Given the description of an element on the screen output the (x, y) to click on. 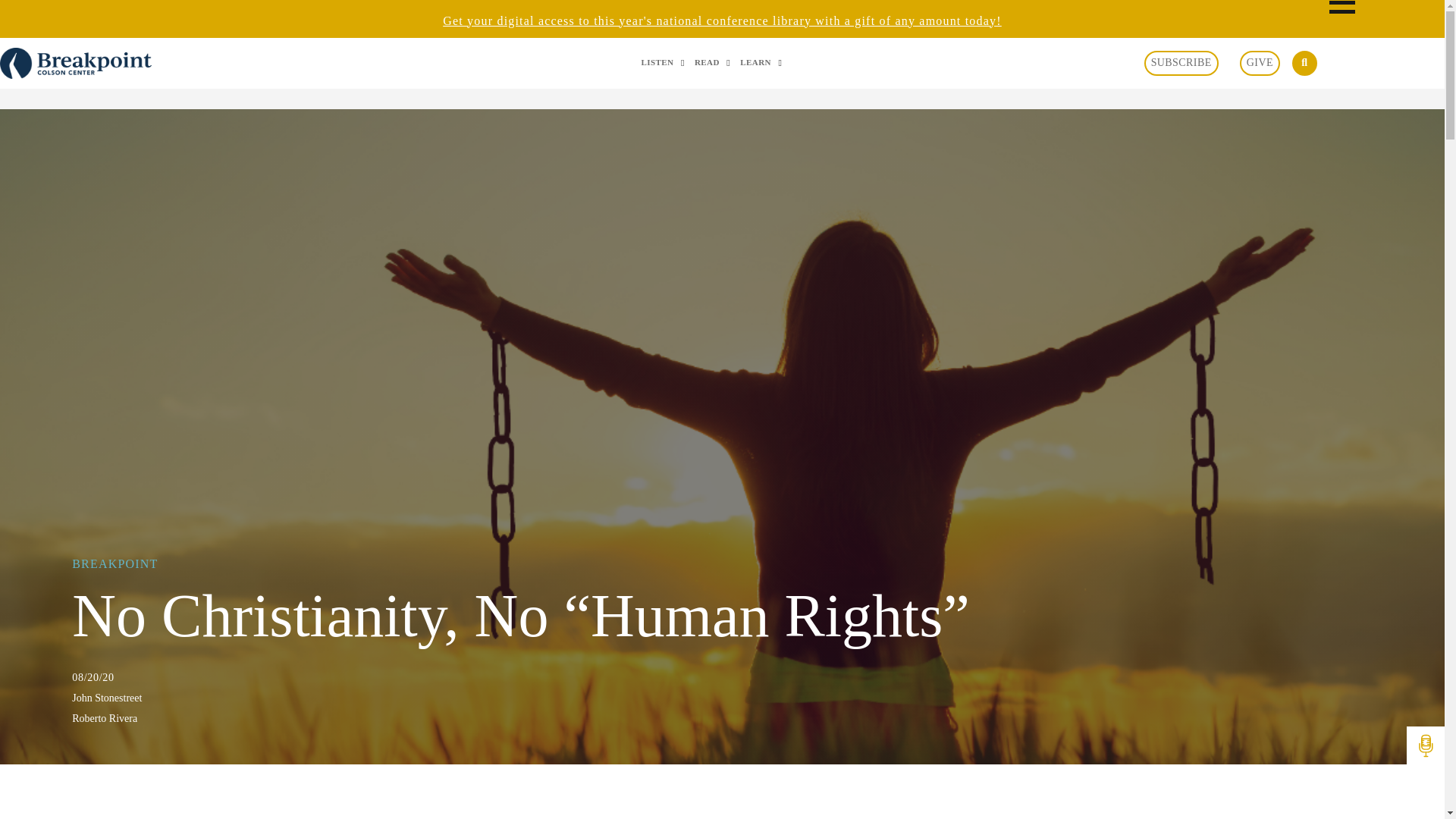
Posts by John Stonestreet (722, 698)
Posts by Roberto Rivera (722, 718)
